Given the description of an element on the screen output the (x, y) to click on. 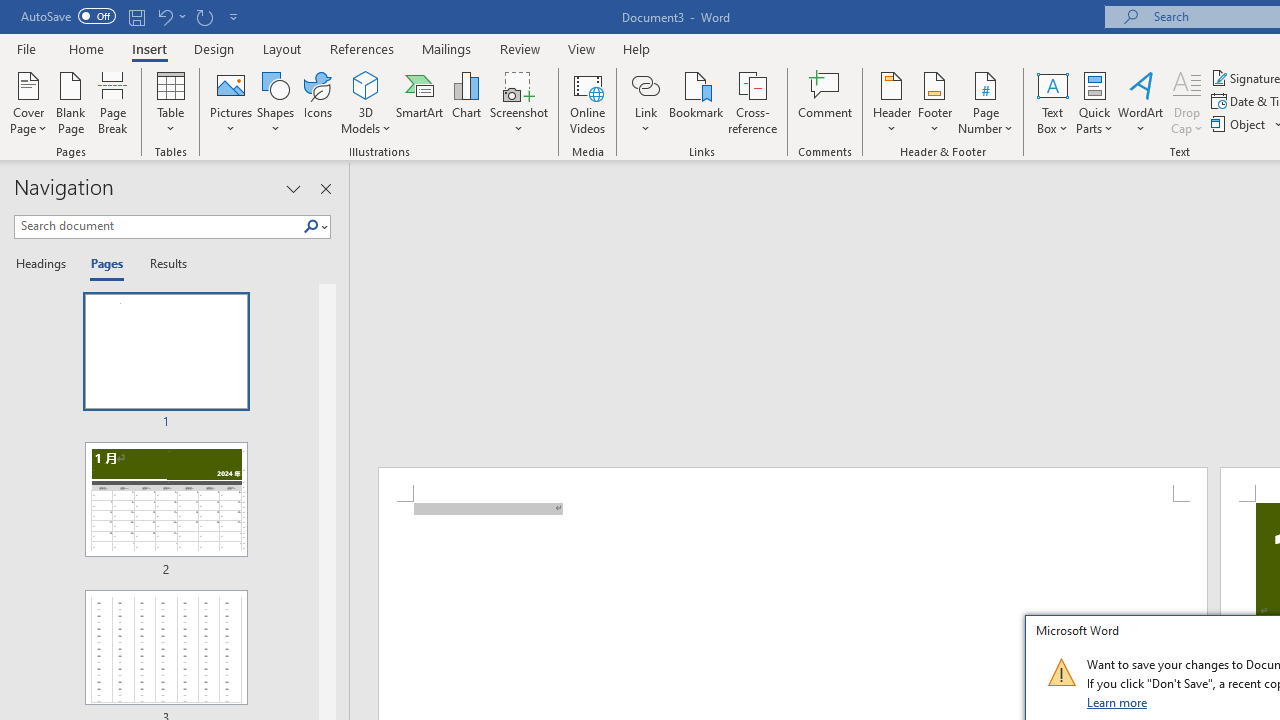
3D Models (366, 102)
Learn more (1118, 702)
Bookmark... (695, 102)
Shapes (275, 102)
Quick Parts (1094, 102)
Header (891, 102)
Pictures (230, 102)
Text Box (1052, 102)
Blank Page (70, 102)
Comment (825, 102)
